Given the description of an element on the screen output the (x, y) to click on. 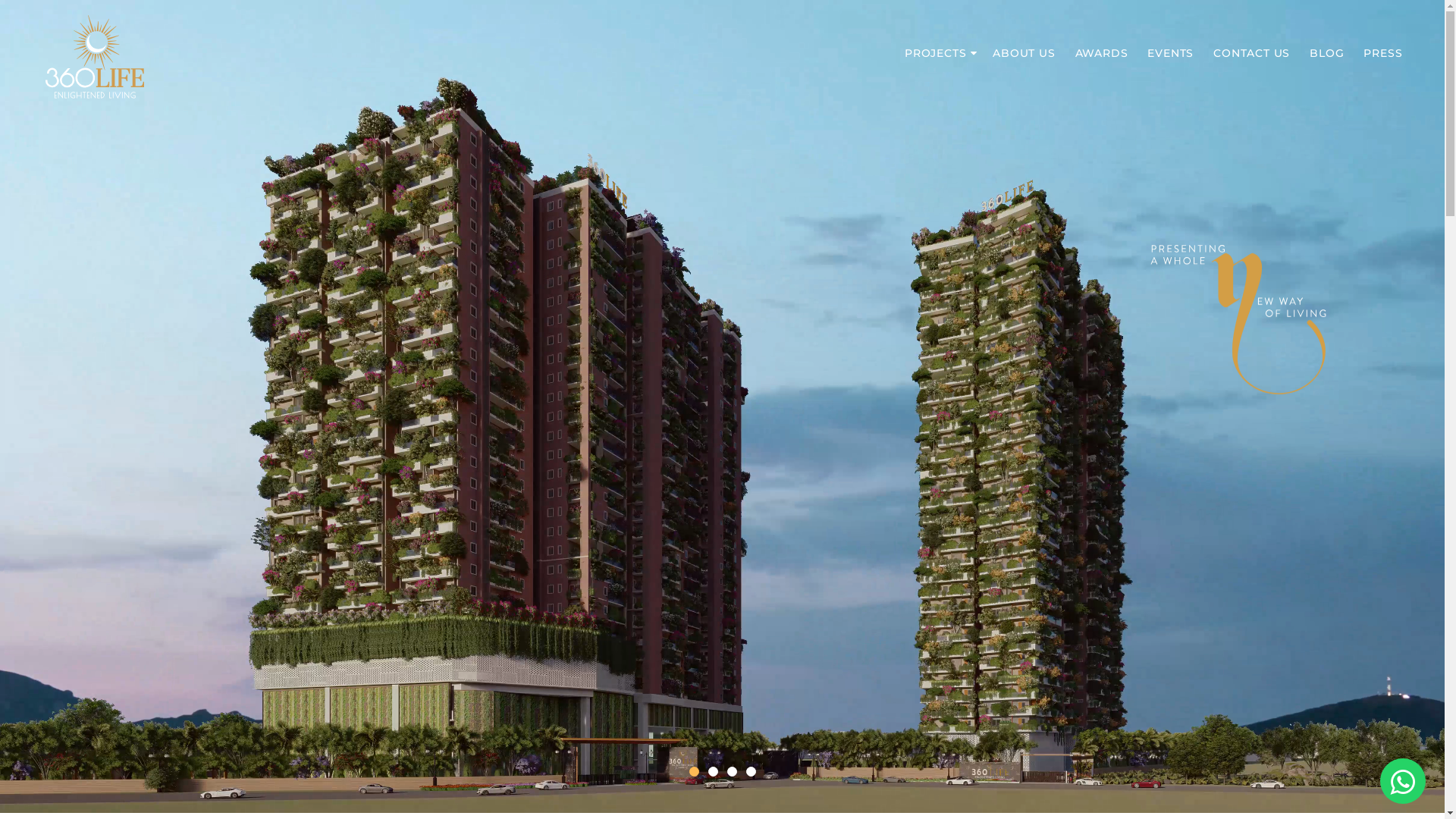
AWARDS Element type: text (1103, 53)
BLOG Element type: text (1328, 53)
PRESS Element type: text (1384, 53)
EVENTS Element type: text (1172, 53)
CONTACT US Element type: text (1253, 53)
PROJECTS Element type: text (941, 53)
ABOUT US Element type: text (1025, 53)
